Given the description of an element on the screen output the (x, y) to click on. 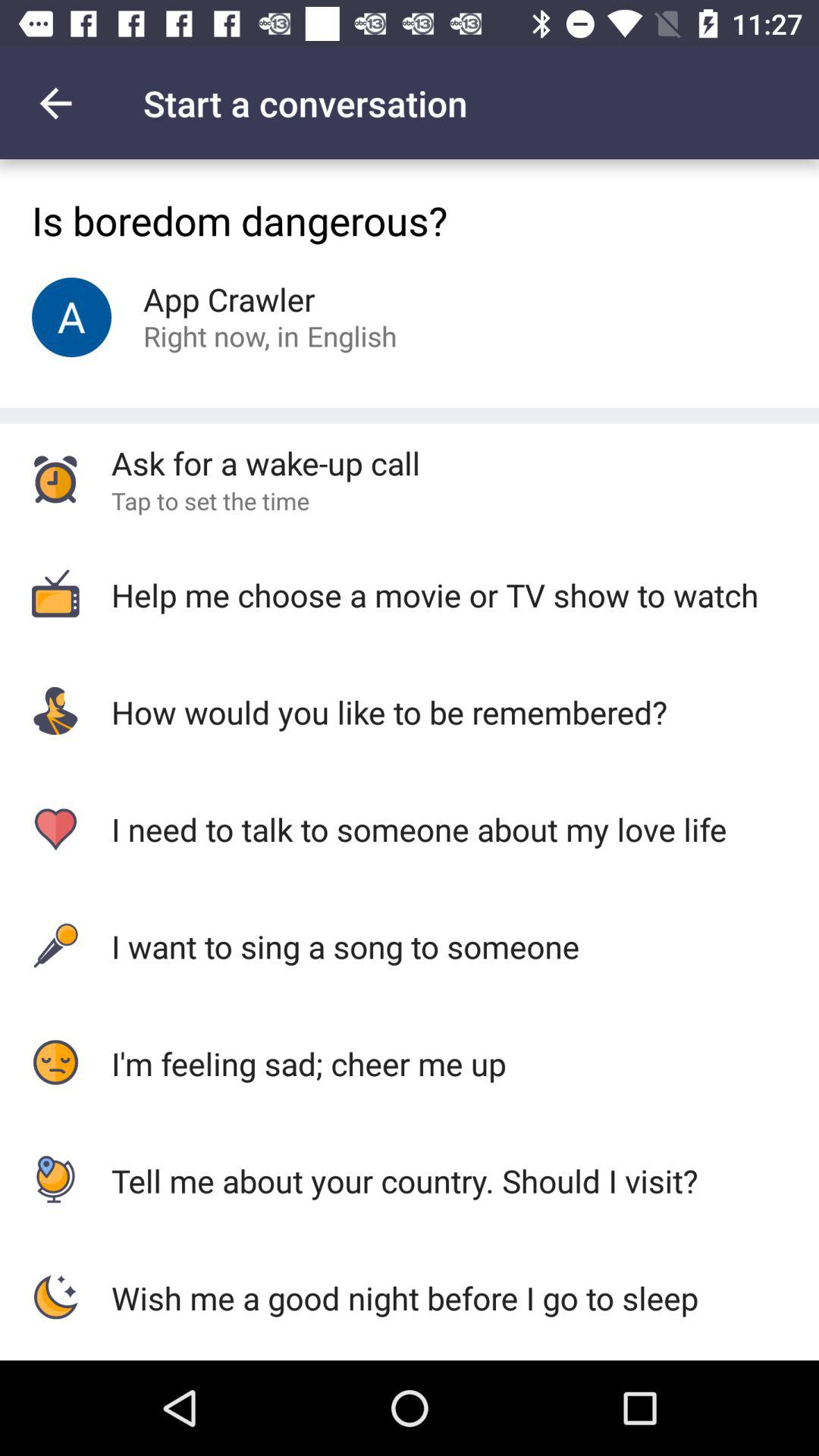
jump until english item (351, 336)
